Given the description of an element on the screen output the (x, y) to click on. 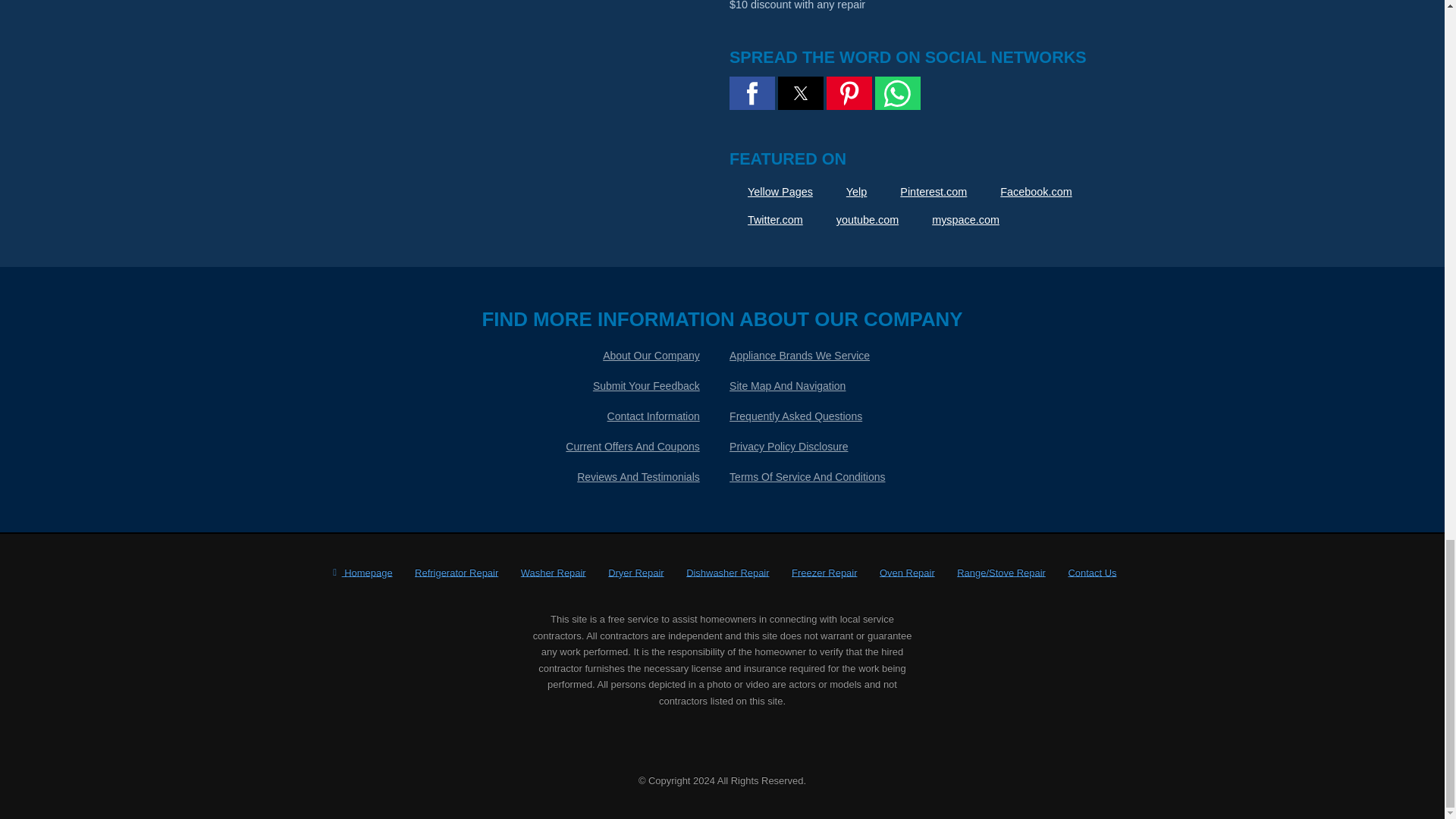
Yellow Pages (770, 191)
Yelp (847, 191)
Pinterest.com (924, 191)
